Given the description of an element on the screen output the (x, y) to click on. 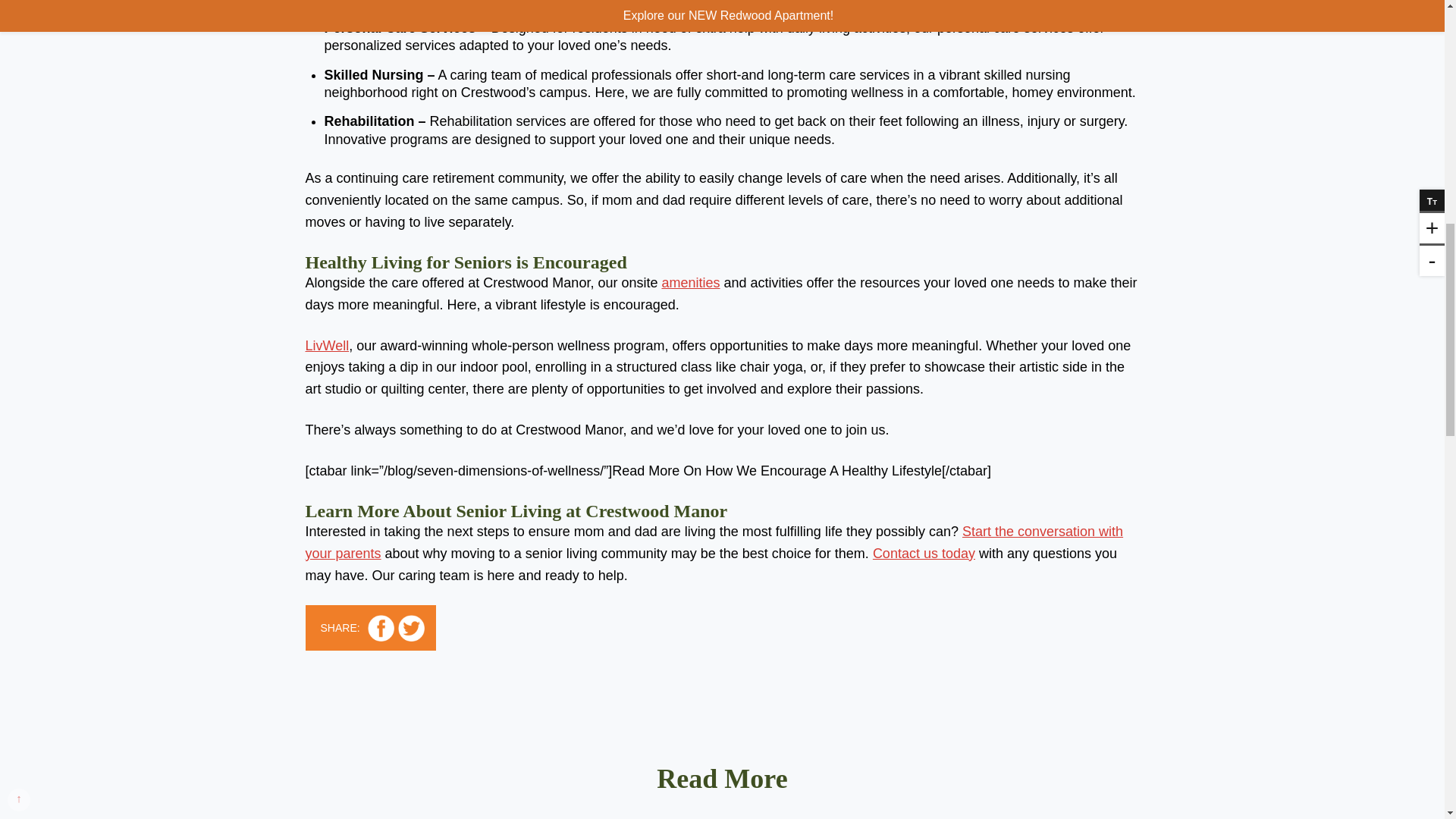
Share on Twitter (411, 628)
Share on Facebook (381, 628)
